Given the description of an element on the screen output the (x, y) to click on. 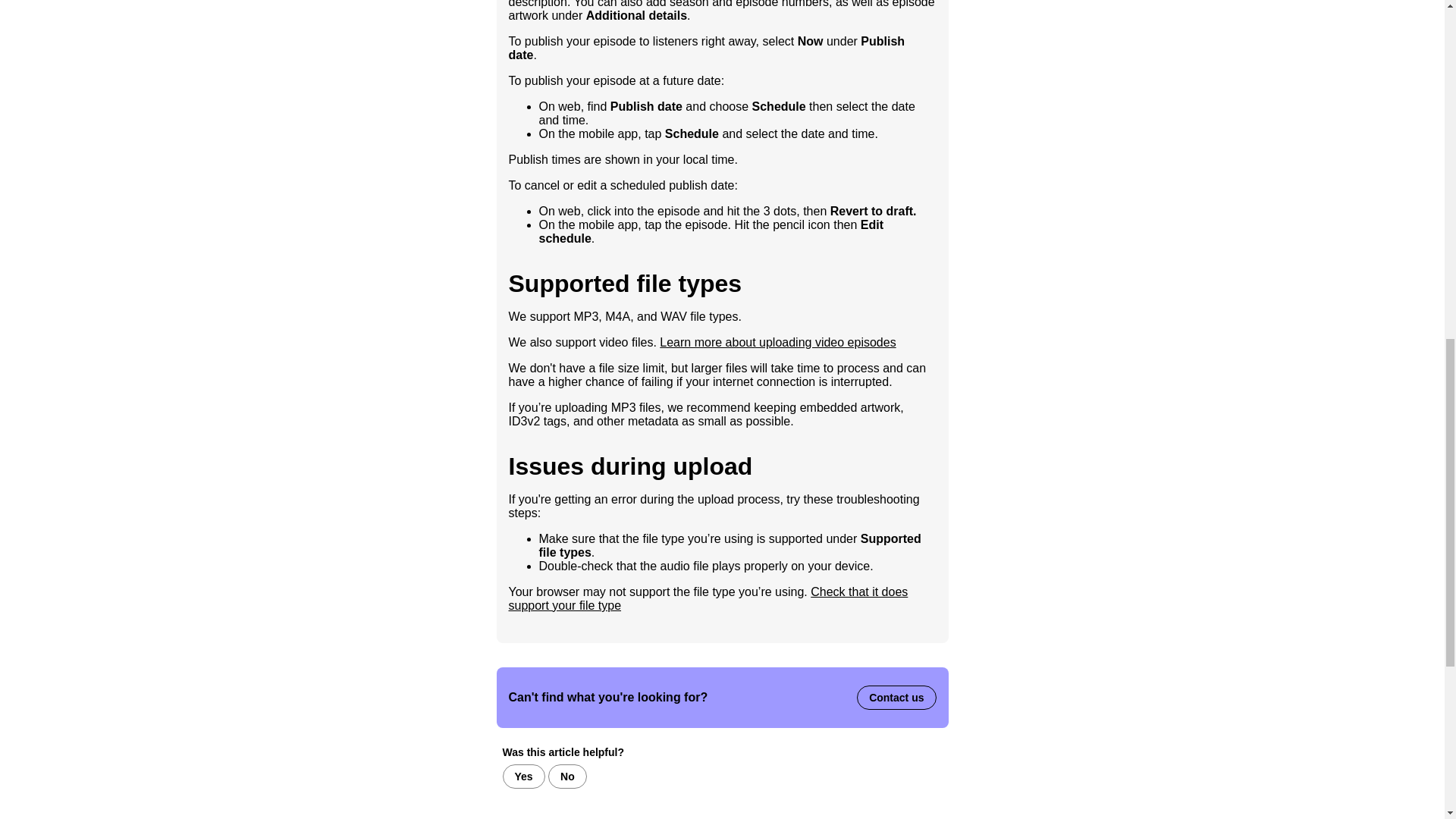
Check that it does support your file type (707, 598)
Contact us (896, 697)
Learn more about uploading video episodes (777, 341)
Yes (523, 776)
